Given the description of an element on the screen output the (x, y) to click on. 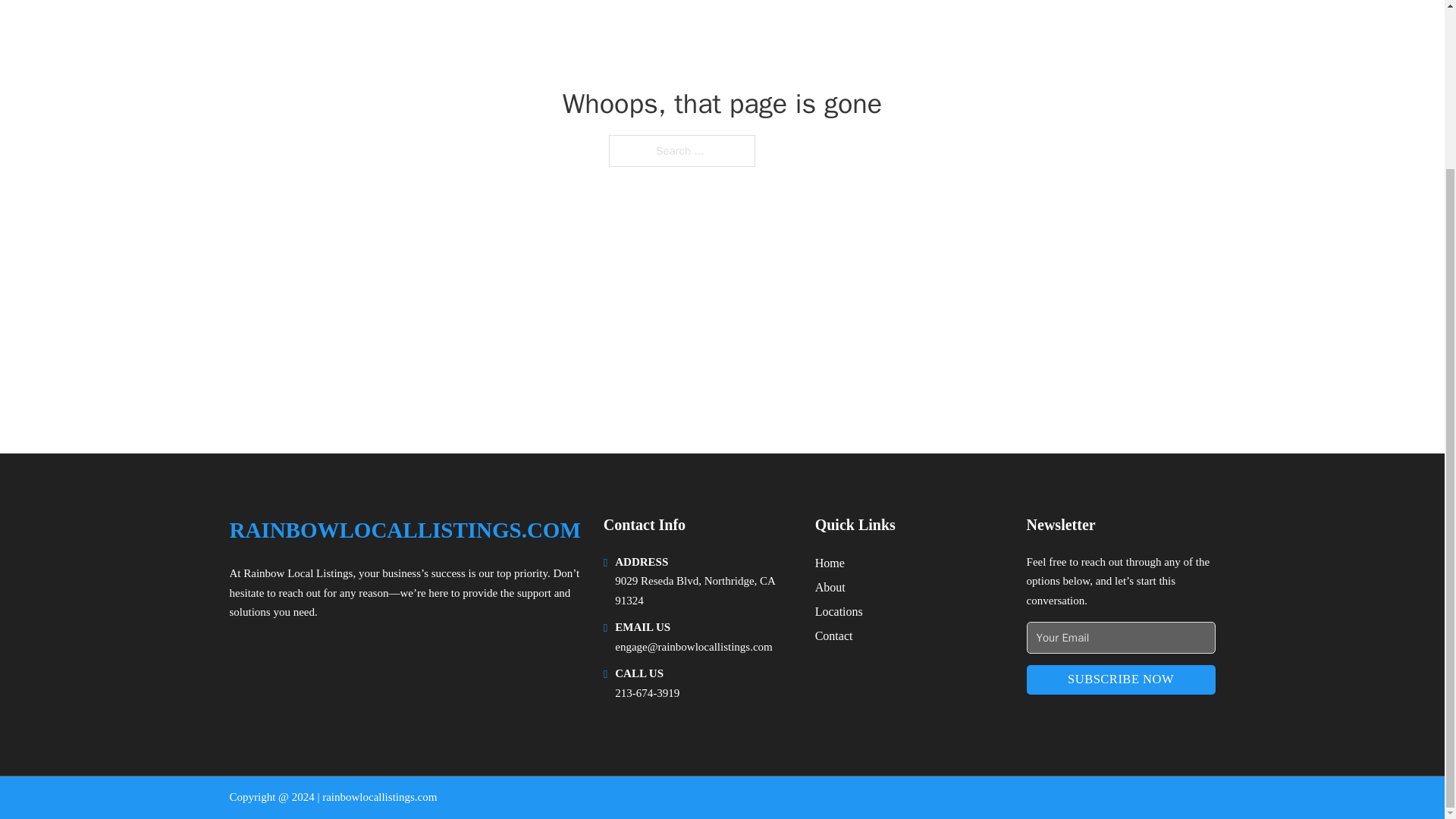
Contact (834, 635)
About (830, 587)
RAINBOWLOCALLISTINGS.COM (403, 529)
Locations (839, 611)
Home (829, 562)
SUBSCRIBE NOW (1120, 679)
213-674-3919 (646, 693)
